Given the description of an element on the screen output the (x, y) to click on. 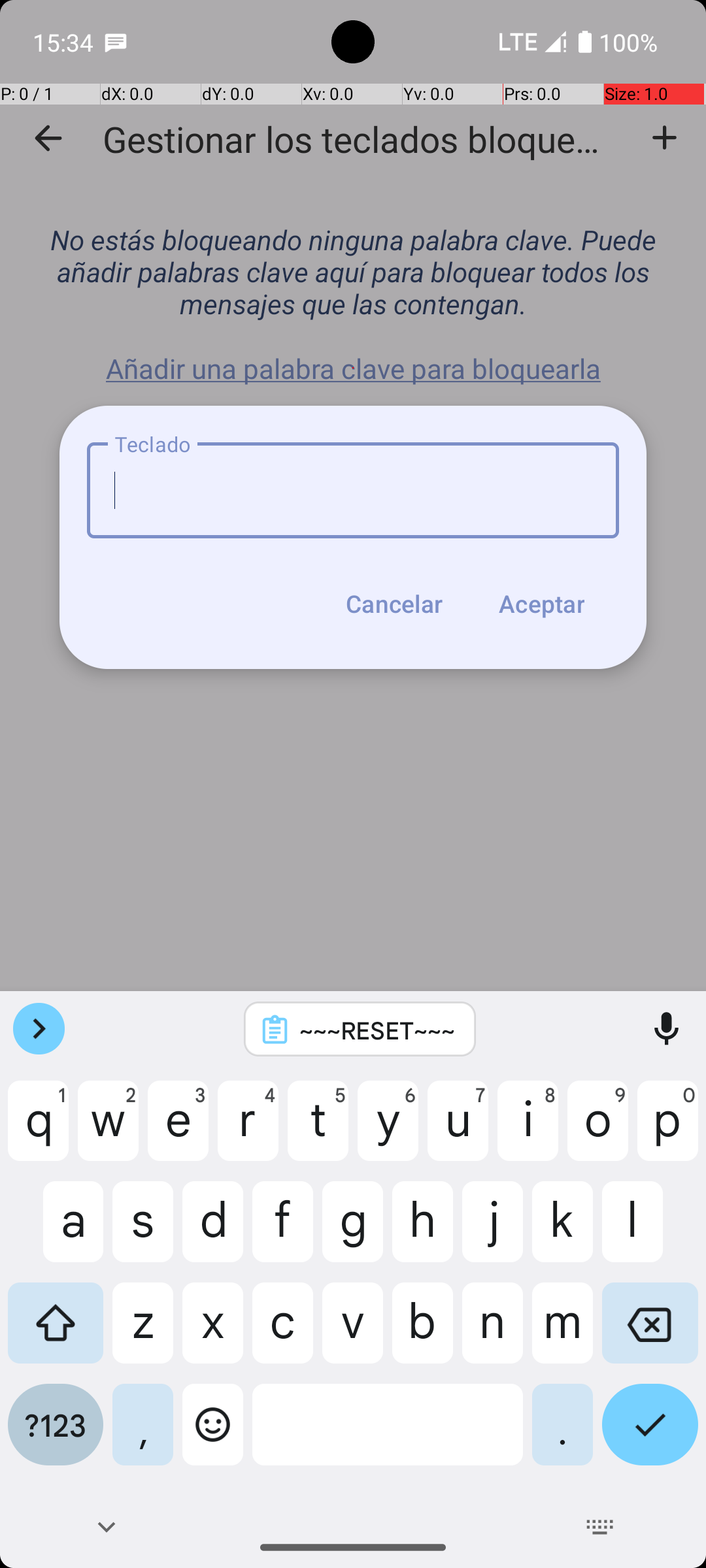
Teclado Element type: android.widget.EditText (352, 490)
